Given the description of an element on the screen output the (x, y) to click on. 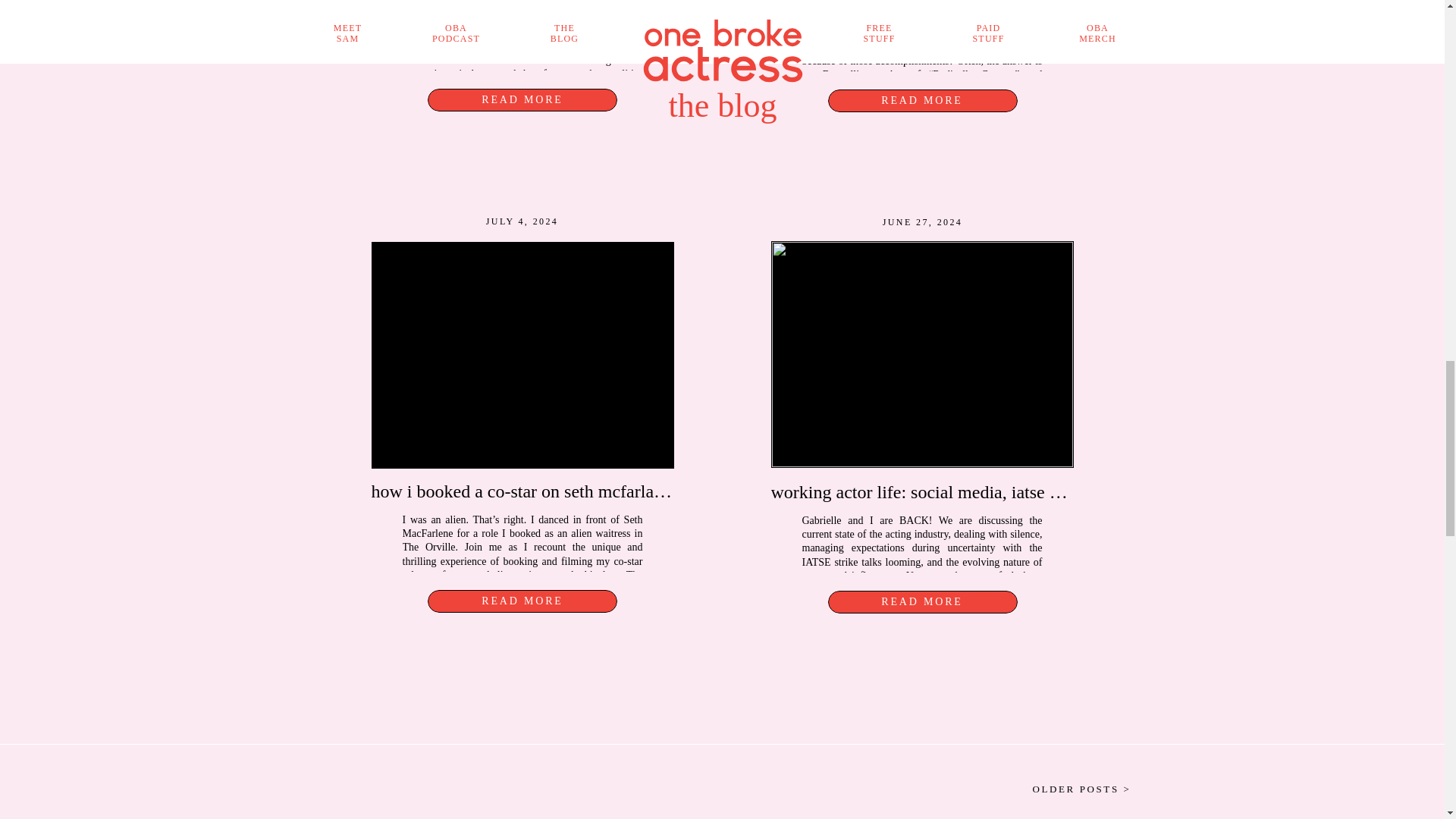
READ MORE (521, 600)
READ MORE (921, 601)
READ MORE (521, 99)
READ MORE (921, 100)
